Given the description of an element on the screen output the (x, y) to click on. 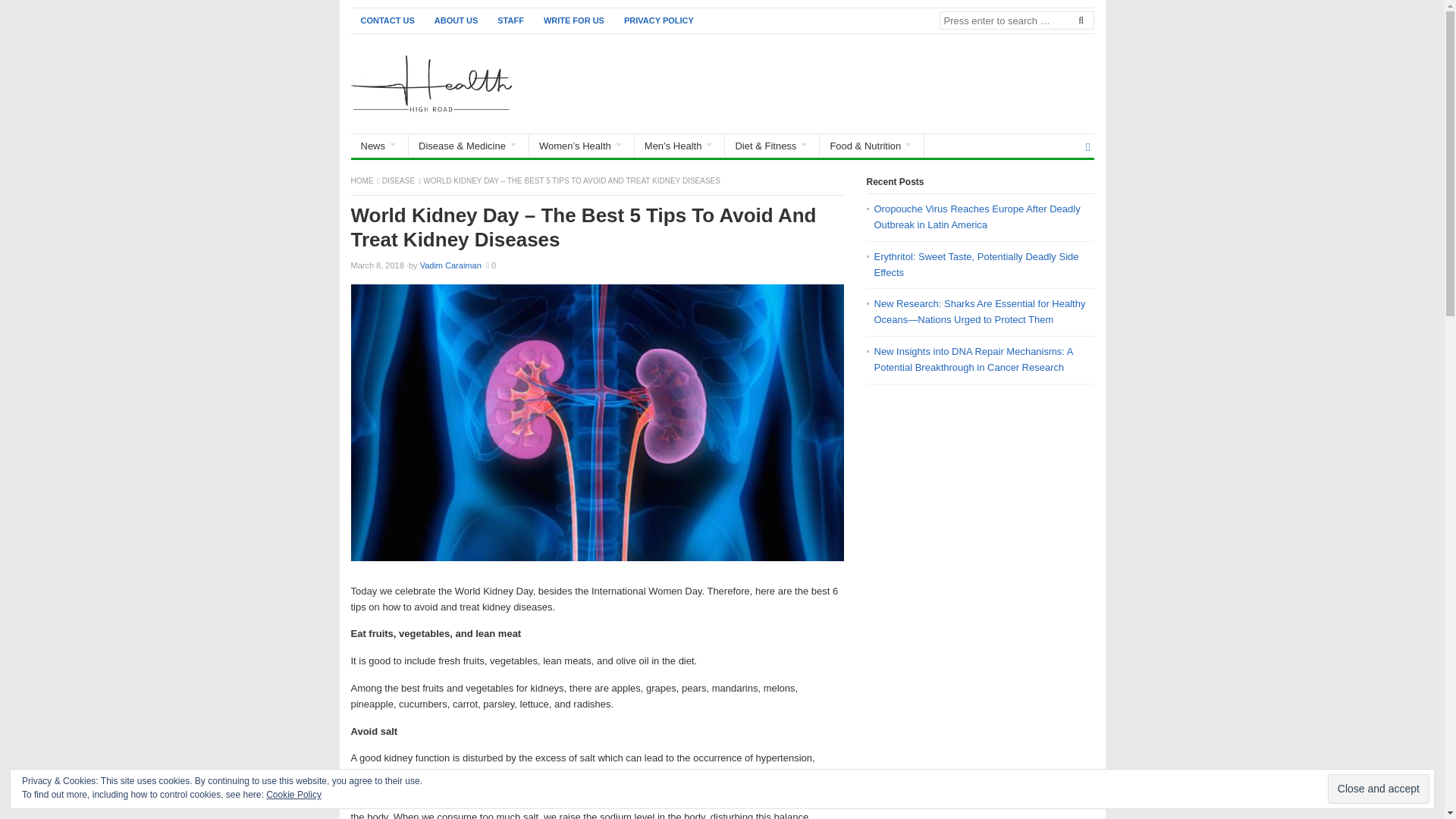
STAFF (510, 20)
ABOUT US (456, 20)
Close and accept (1378, 788)
Health Highroad (362, 180)
CONTACT US (386, 20)
Search for: (1016, 20)
PRIVACY POLICY (658, 20)
WRITE FOR US (574, 20)
Disease (398, 180)
